Given the description of an element on the screen output the (x, y) to click on. 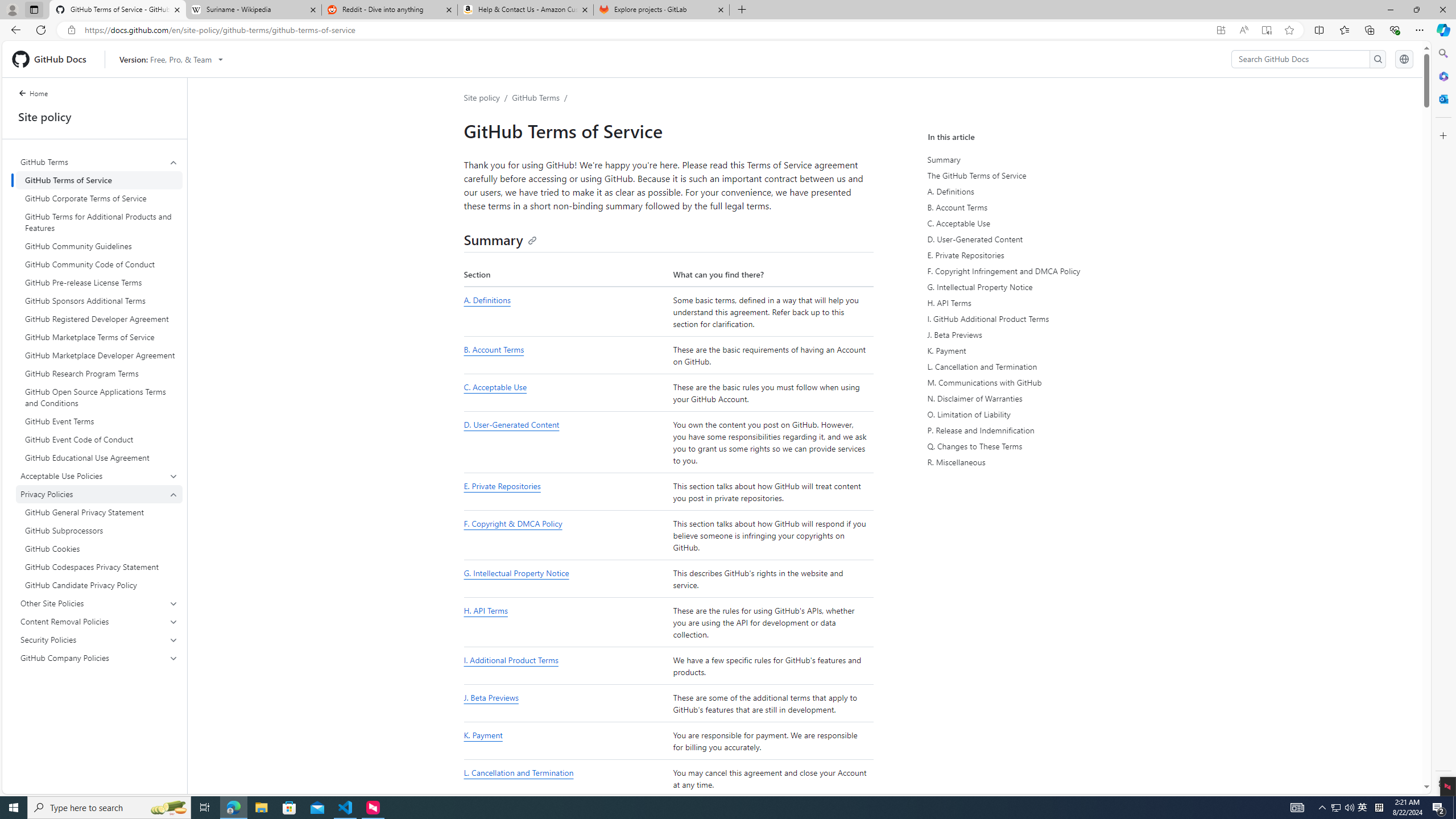
GitHub Terms (535, 97)
Acceptable Use Policies (99, 475)
This describes GitHub's rights in the website and service. (770, 579)
M. Communications with GitHub (1032, 382)
Site policy (481, 97)
K. Payment (1032, 350)
GitHub Registered Developer Agreement (99, 318)
GitHub Community Guidelines (99, 246)
GitHub Terms/ (542, 97)
Section (565, 274)
